Given the description of an element on the screen output the (x, y) to click on. 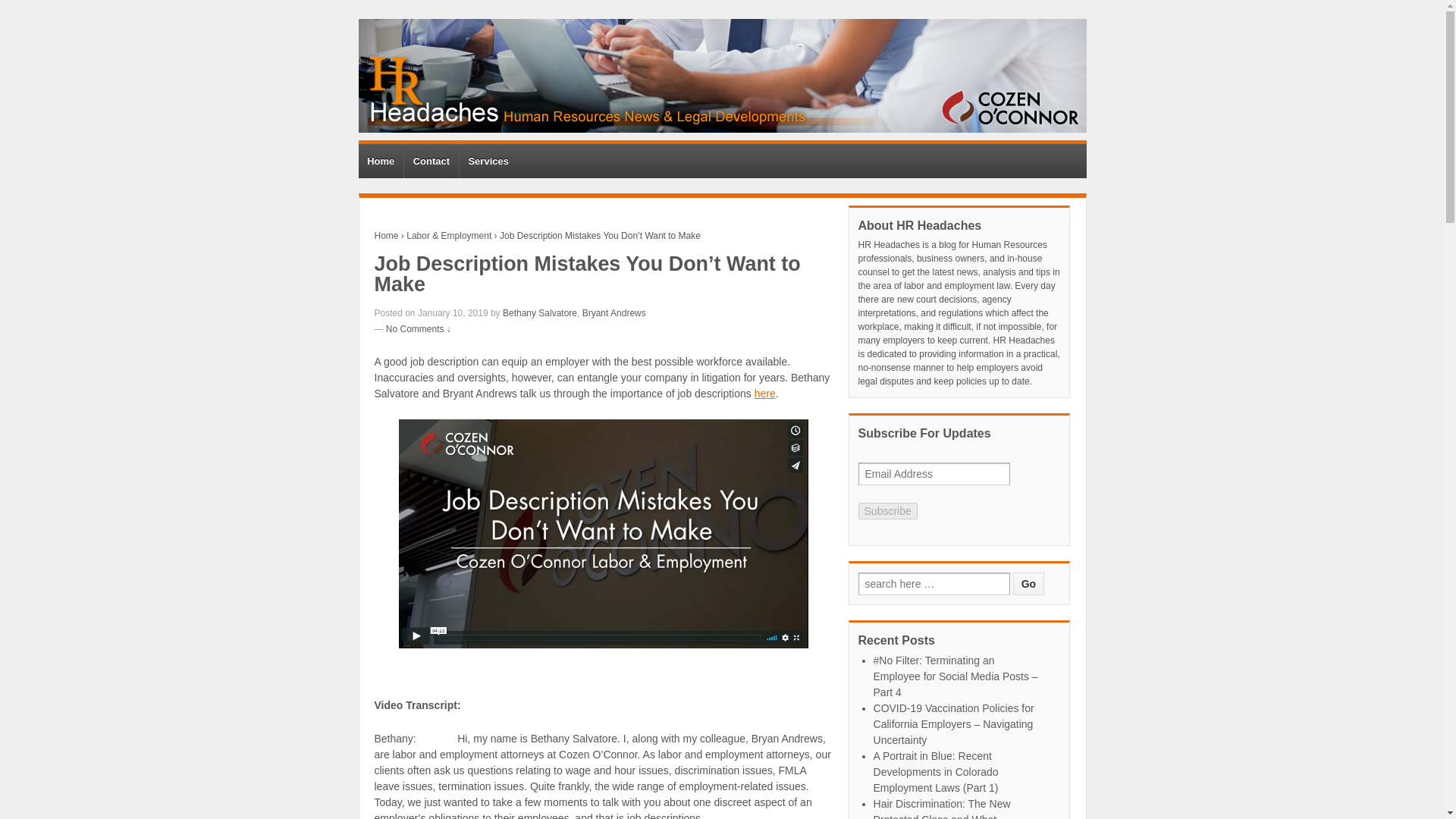
Contact (430, 161)
Go (1028, 583)
here (765, 393)
Bryant Andrews (614, 312)
Home (380, 161)
Services (488, 161)
Subscribe (888, 510)
Bethany Salvatore (539, 312)
Home (386, 235)
